Given the description of an element on the screen output the (x, y) to click on. 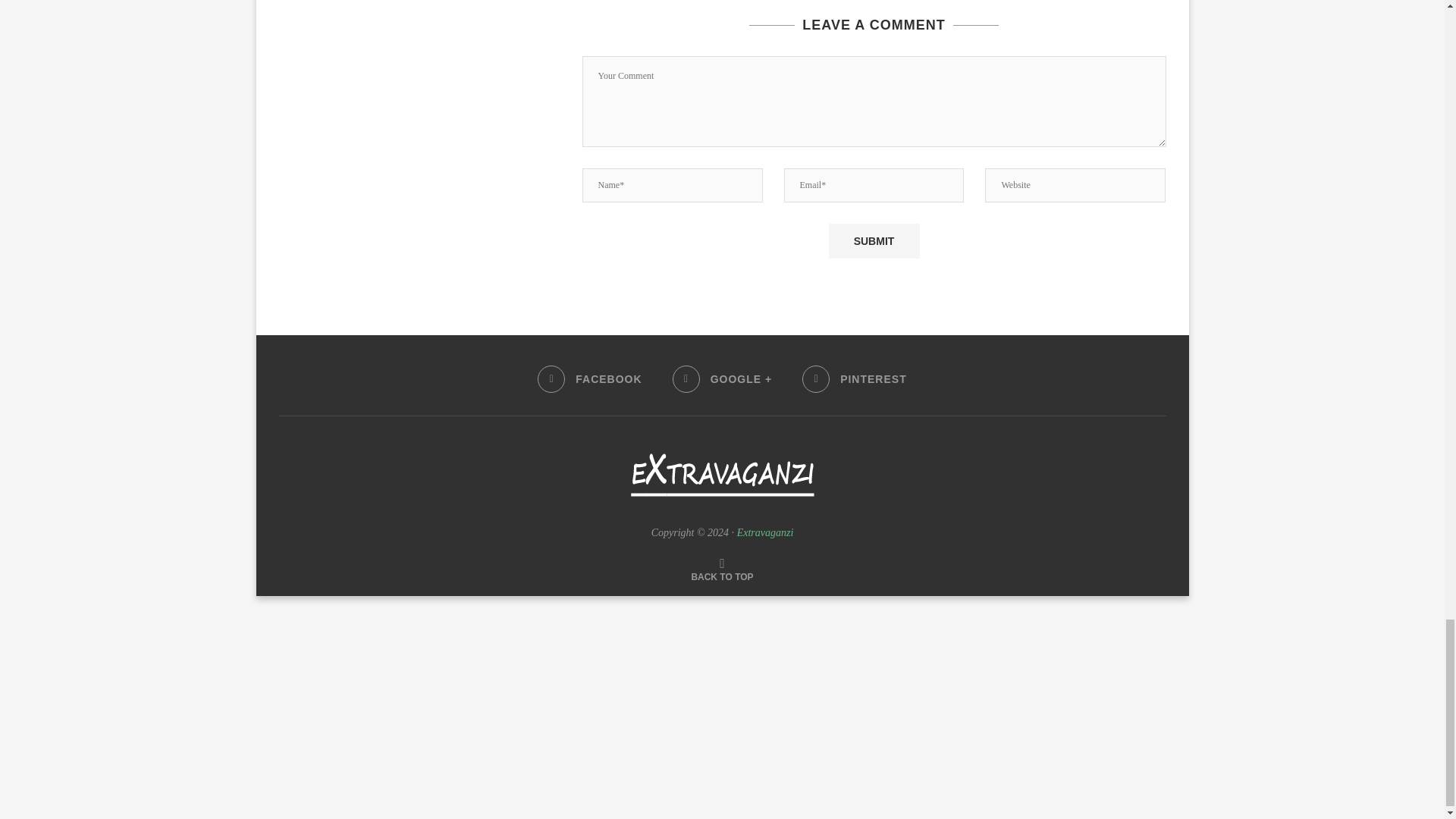
Submit (873, 240)
